Given the description of an element on the screen output the (x, y) to click on. 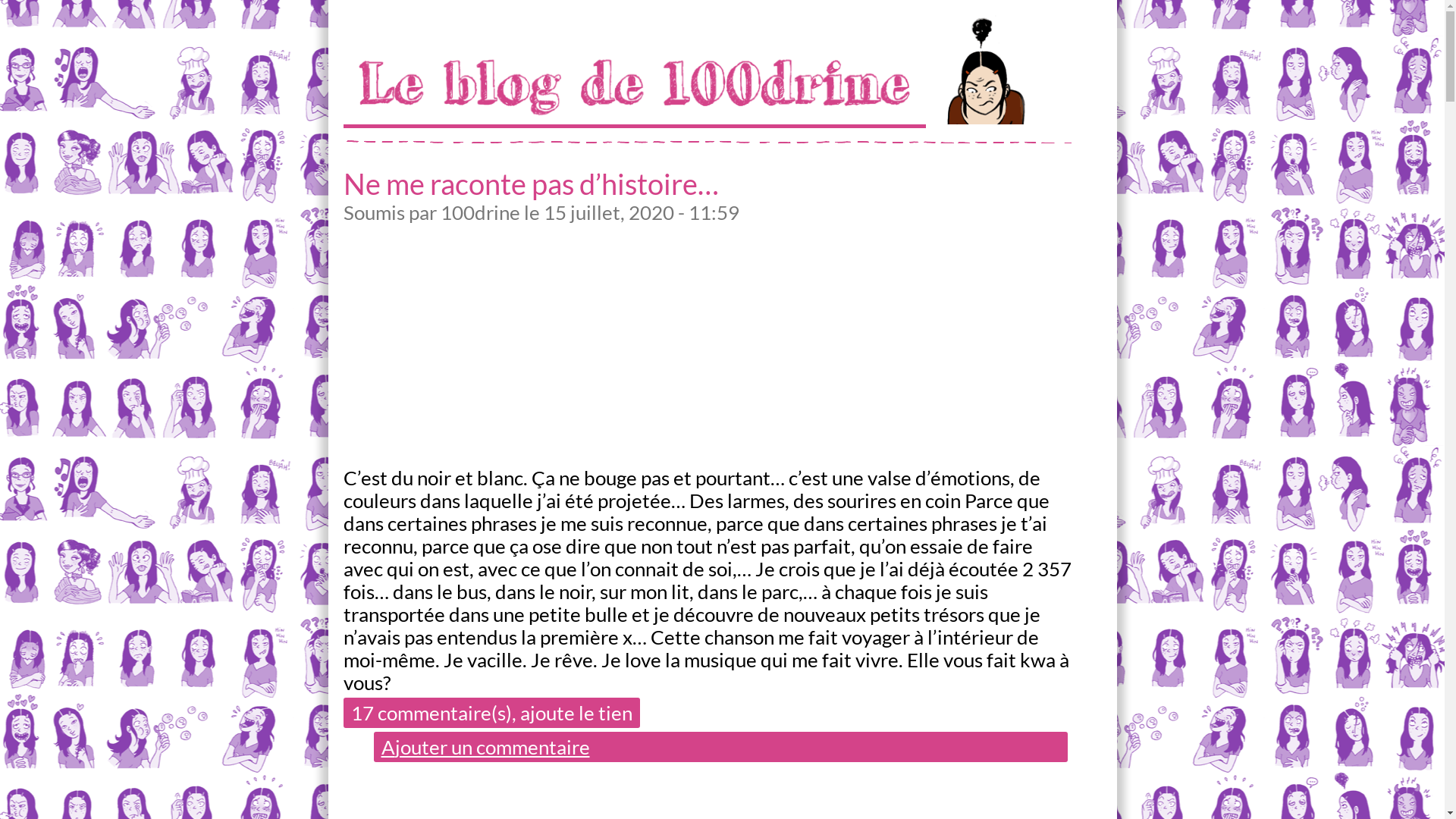
Aller au contenu principal Element type: text (109, 0)
Ajouter un commentaire Element type: text (719, 746)
17 commentaire(s), ajoute le tien Element type: text (490, 712)
